Given the description of an element on the screen output the (x, y) to click on. 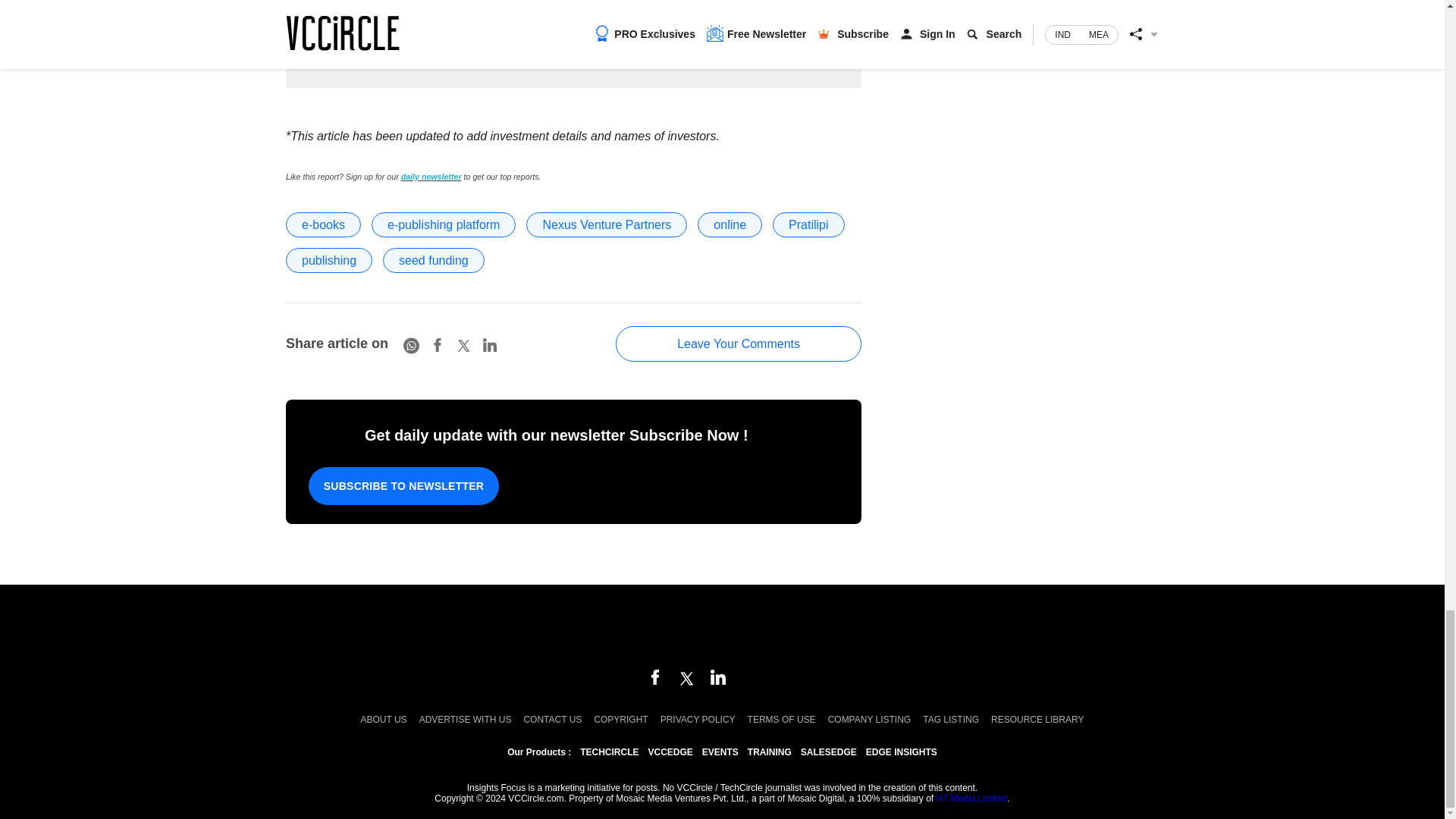
daily newsletter (431, 175)
e-publishing platform (443, 224)
online (729, 224)
Nexus Venture Partners (606, 224)
Pratilipi (808, 224)
publishing (328, 260)
SUBSCRIBE TO NEWSLETTER (403, 485)
Leave Your Comments (738, 343)
seed funding (433, 260)
e-books (323, 224)
Mosaic Digital (721, 628)
